Given the description of an element on the screen output the (x, y) to click on. 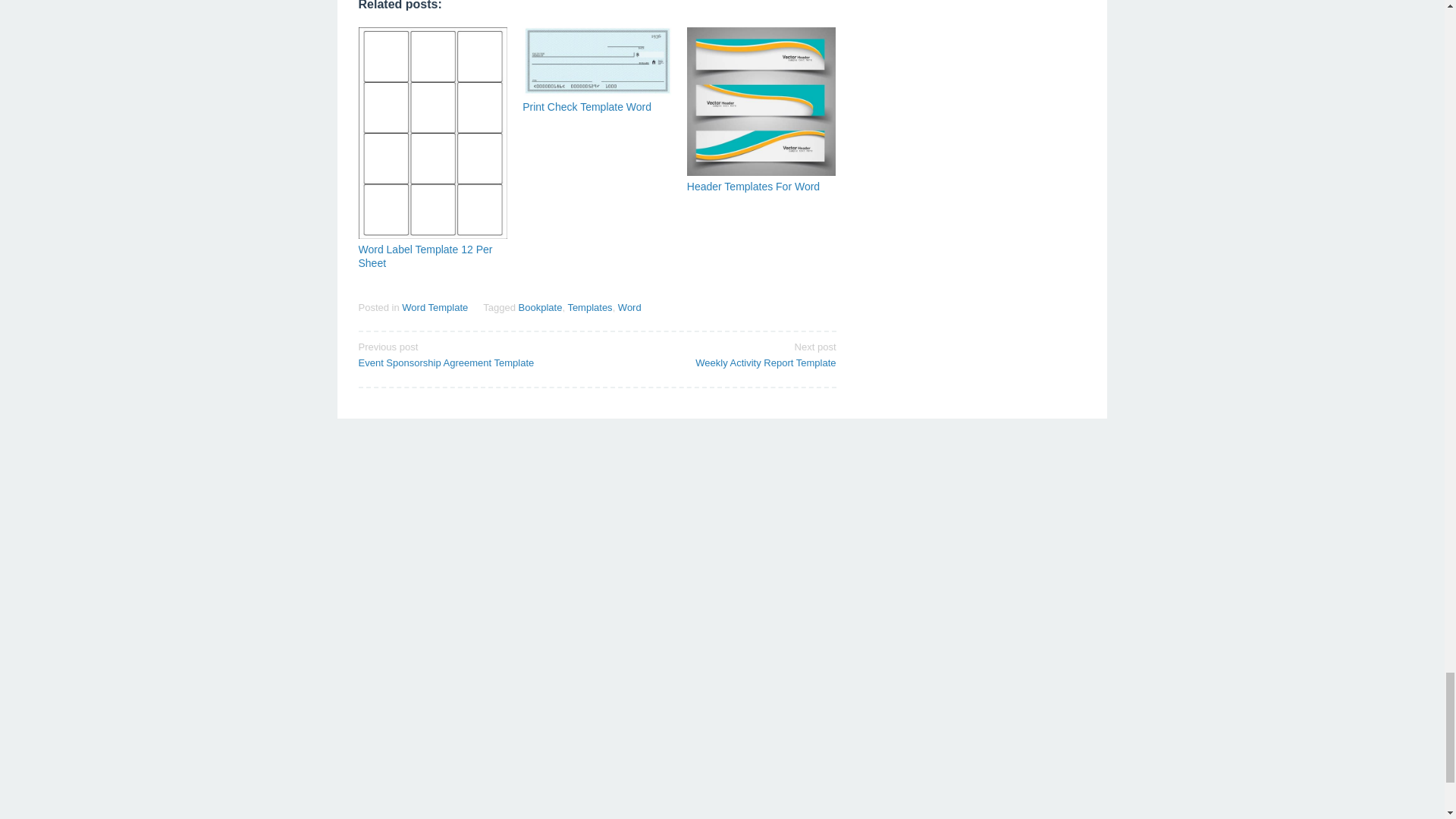
Header Templates For Word (721, 353)
Permalink to: Word Label Template 12 Per Sheet (753, 186)
Bookplate (425, 256)
Word Template (540, 307)
Templates (434, 307)
Word (589, 307)
Print Check Template Word (472, 353)
Word Label Template 12 Per Sheet (629, 307)
